Given the description of an element on the screen output the (x, y) to click on. 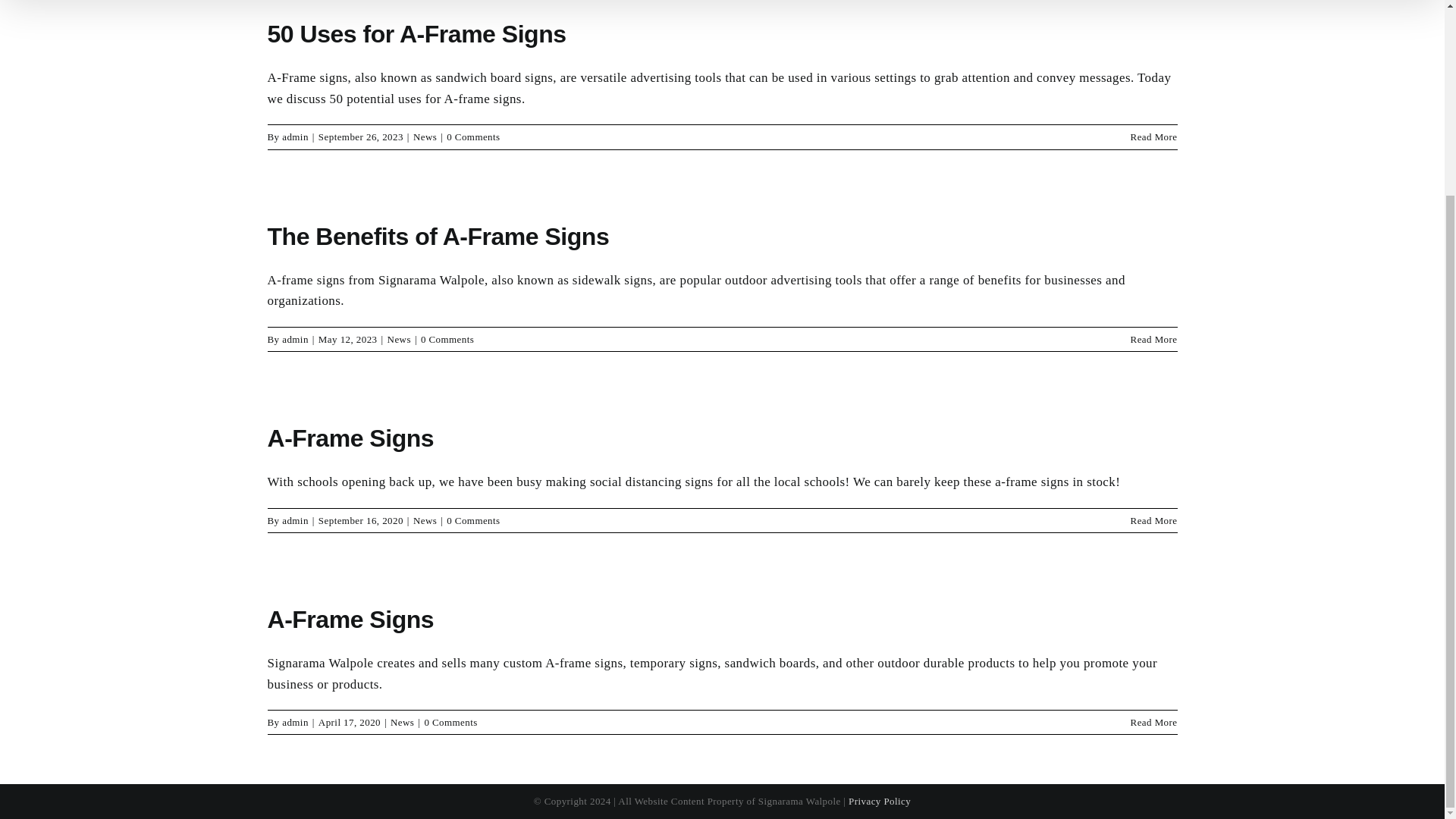
Posts by admin (295, 136)
Posts by admin (295, 520)
Posts by admin (295, 338)
Posts by admin (295, 722)
